Given the description of an element on the screen output the (x, y) to click on. 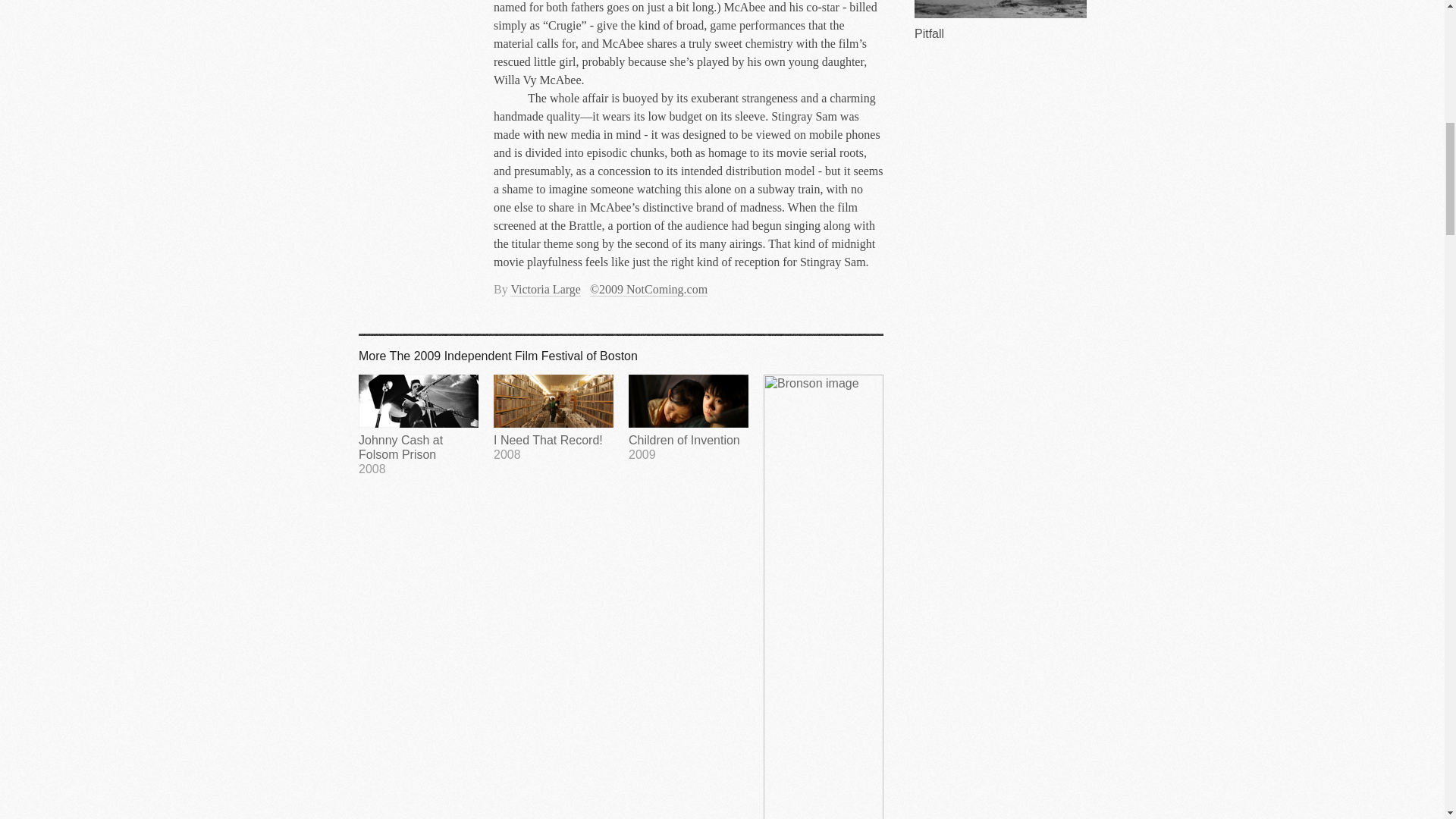
Victoria Large (545, 289)
Children of Invention (688, 417)
Johnny Cash at Folsom Prison (418, 424)
I Need That Record! (552, 417)
Pitfall (552, 417)
